Given the description of an element on the screen output the (x, y) to click on. 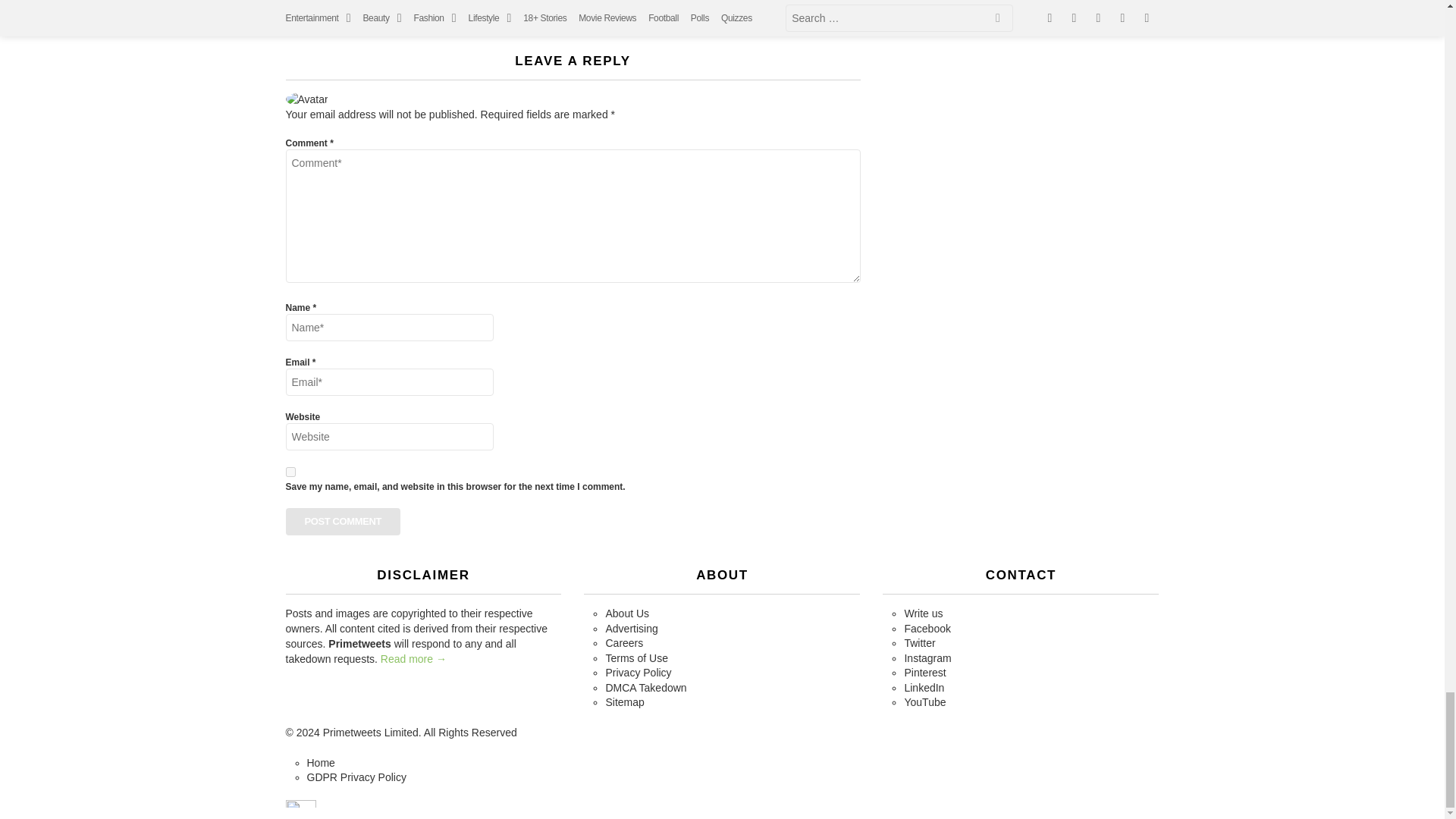
yes (290, 471)
Post Comment (342, 521)
